Given the description of an element on the screen output the (x, y) to click on. 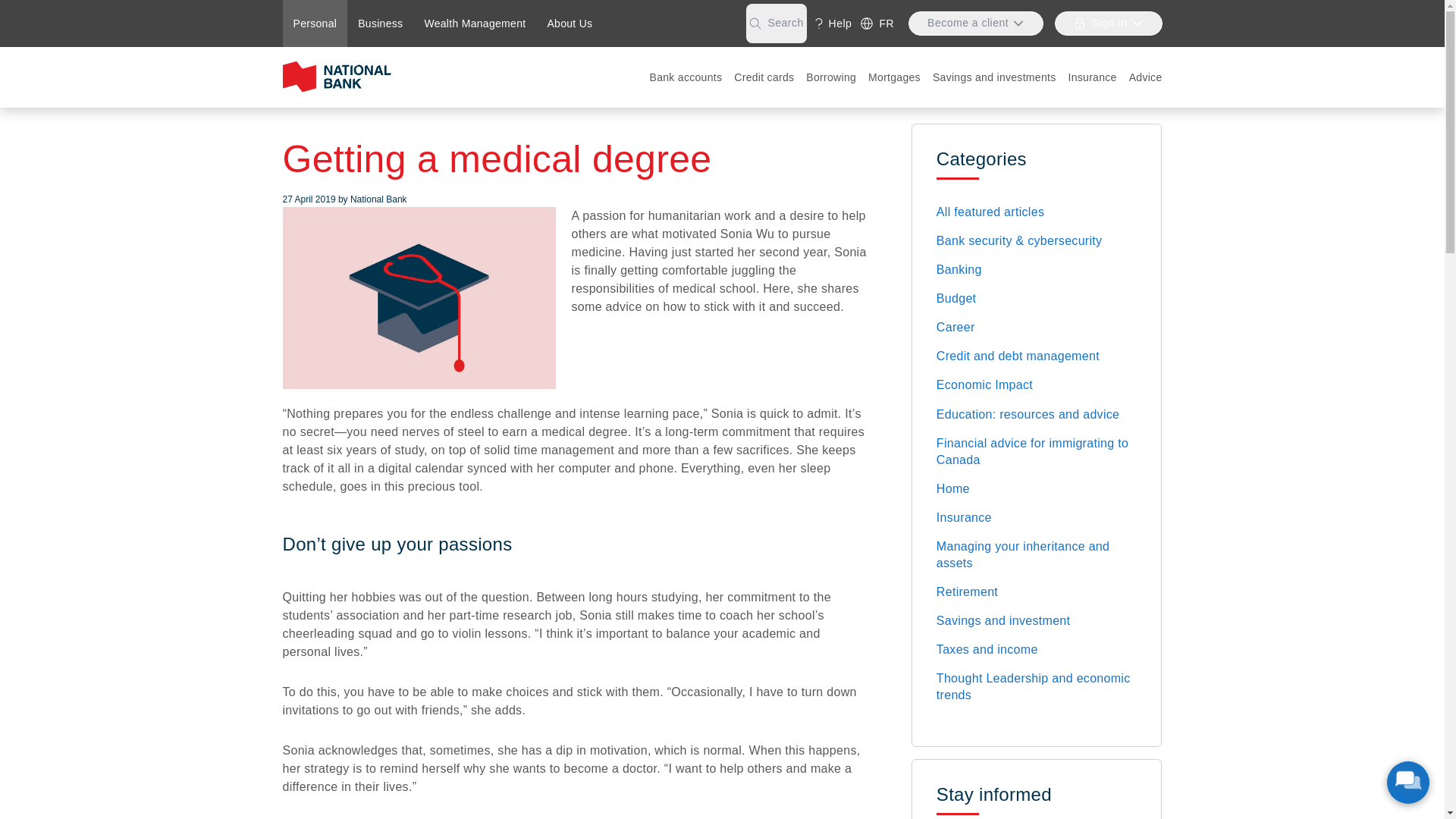
getting a medical degree (418, 298)
Personal (314, 23)
Sign in (1107, 23)
NBC virtual assistant (1408, 782)
Mortgages (893, 77)
About Us (568, 23)
Credit cards (763, 77)
Help (832, 23)
Bank accounts (686, 77)
Search (775, 23)
Borrowing (830, 77)
Wealth Management (474, 23)
FR (876, 23)
Become a client (975, 23)
